Given the description of an element on the screen output the (x, y) to click on. 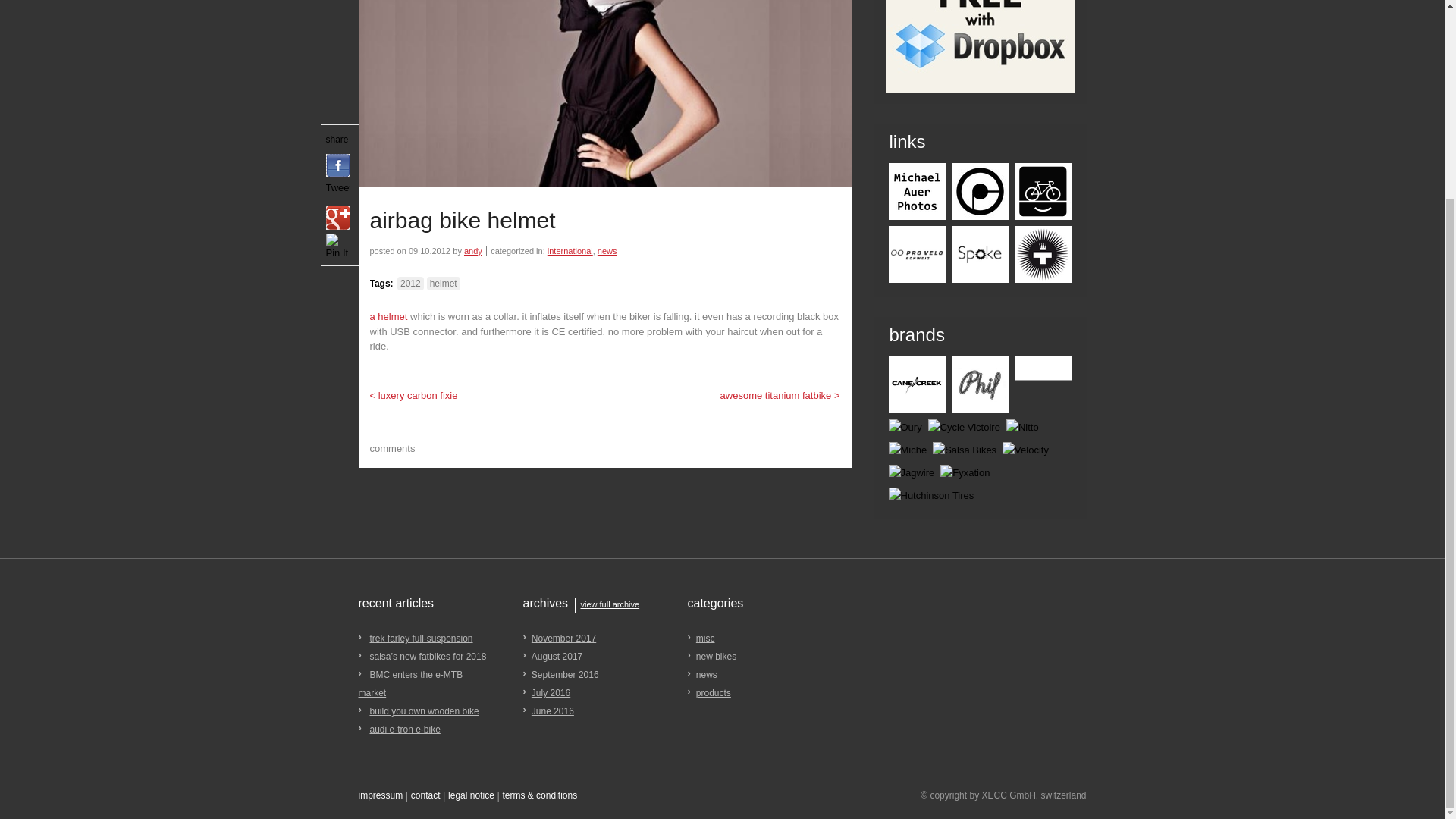
Pin It (338, 4)
Hovding airbag helmet (388, 316)
international (569, 250)
andy (472, 250)
news (606, 250)
a helmet (388, 316)
helmet (443, 283)
2012 (410, 283)
Posts by andy (472, 250)
